Given the description of an element on the screen output the (x, y) to click on. 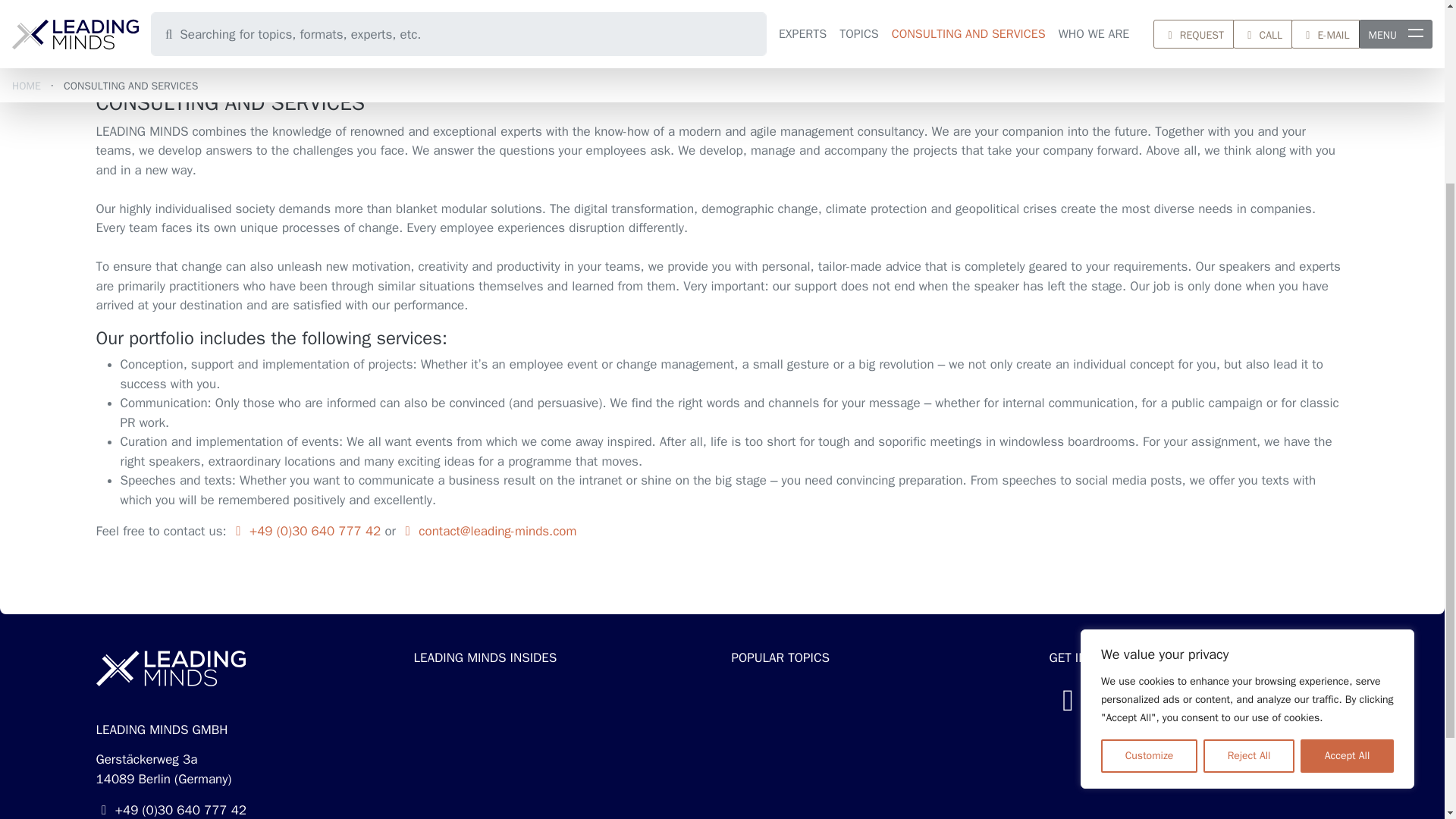
Customize (1148, 500)
Accept All (1346, 500)
Reject All (1249, 500)
LEADING MINDS GmbH (171, 667)
